Given the description of an element on the screen output the (x, y) to click on. 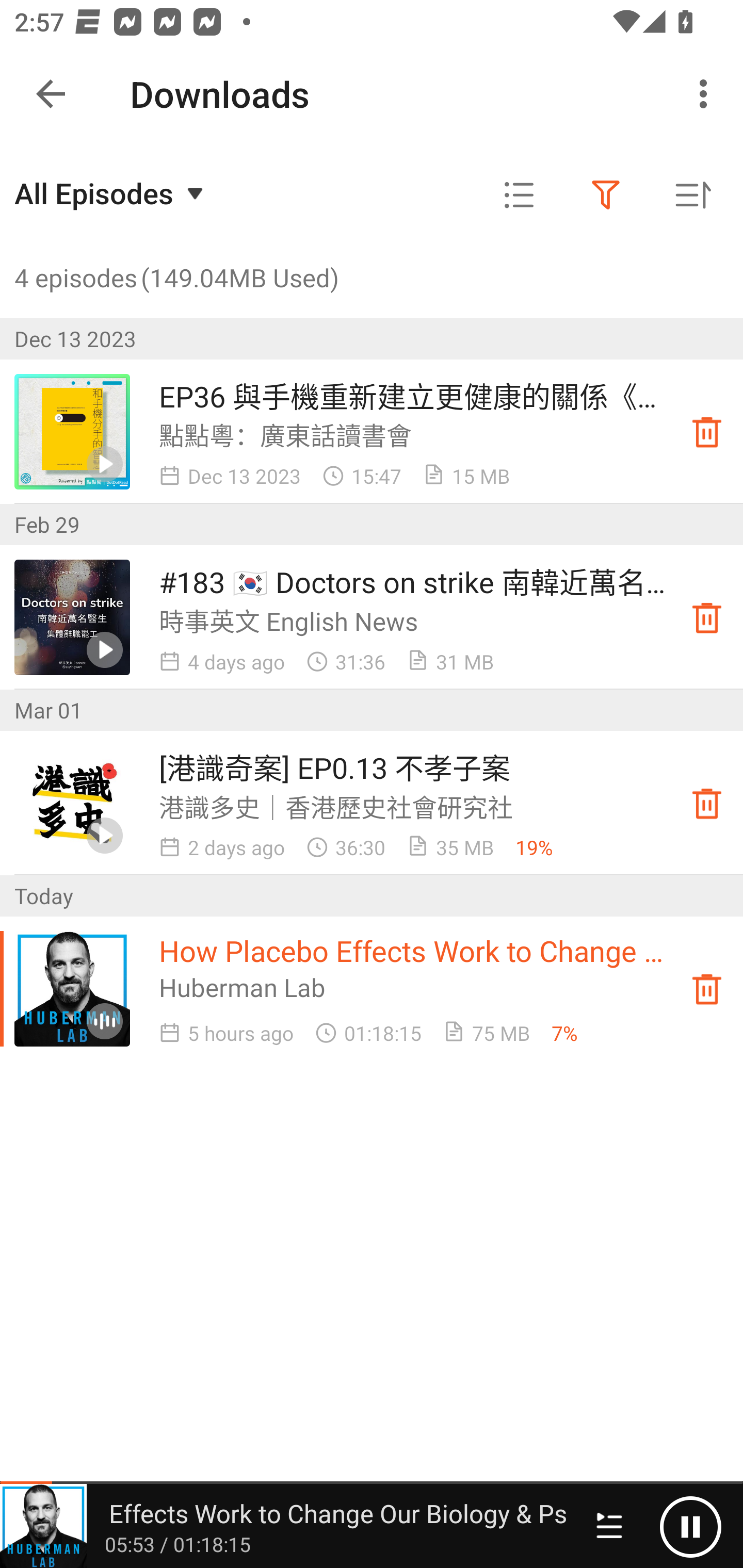
5.0 Downloading 1 episode VIEW (371, 88)
Navigate up (50, 93)
More options (706, 93)
All Episodes (111, 192)
 (518, 195)
 (605, 195)
 Sorted by oldest first (692, 195)
Downloaded (706, 431)
Downloaded (706, 617)
Downloaded (706, 802)
Downloaded (706, 988)
Pause (654, 1525)
Pause (690, 1526)
